Given the description of an element on the screen output the (x, y) to click on. 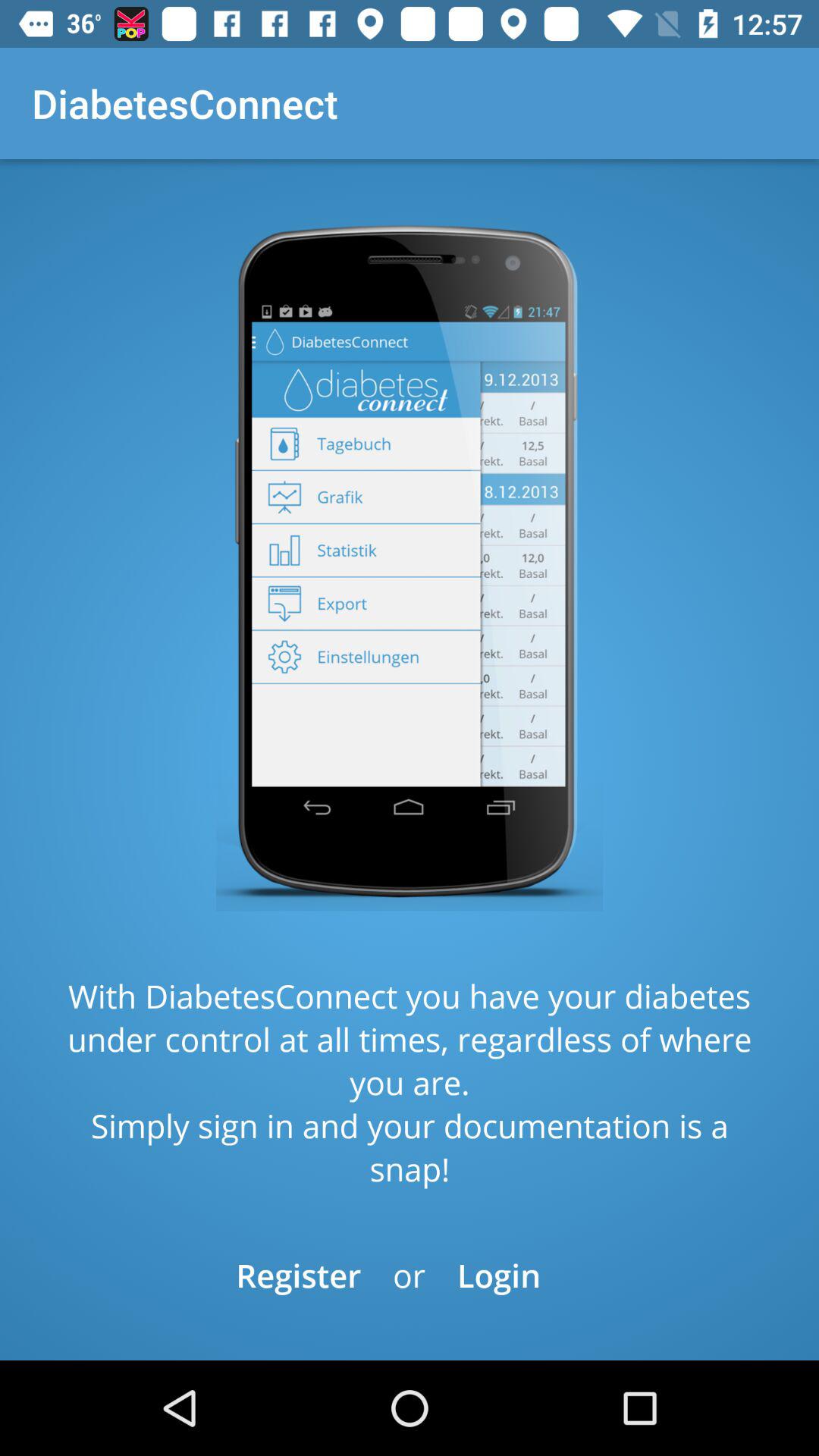
tap the item next to the or (298, 1275)
